Given the description of an element on the screen output the (x, y) to click on. 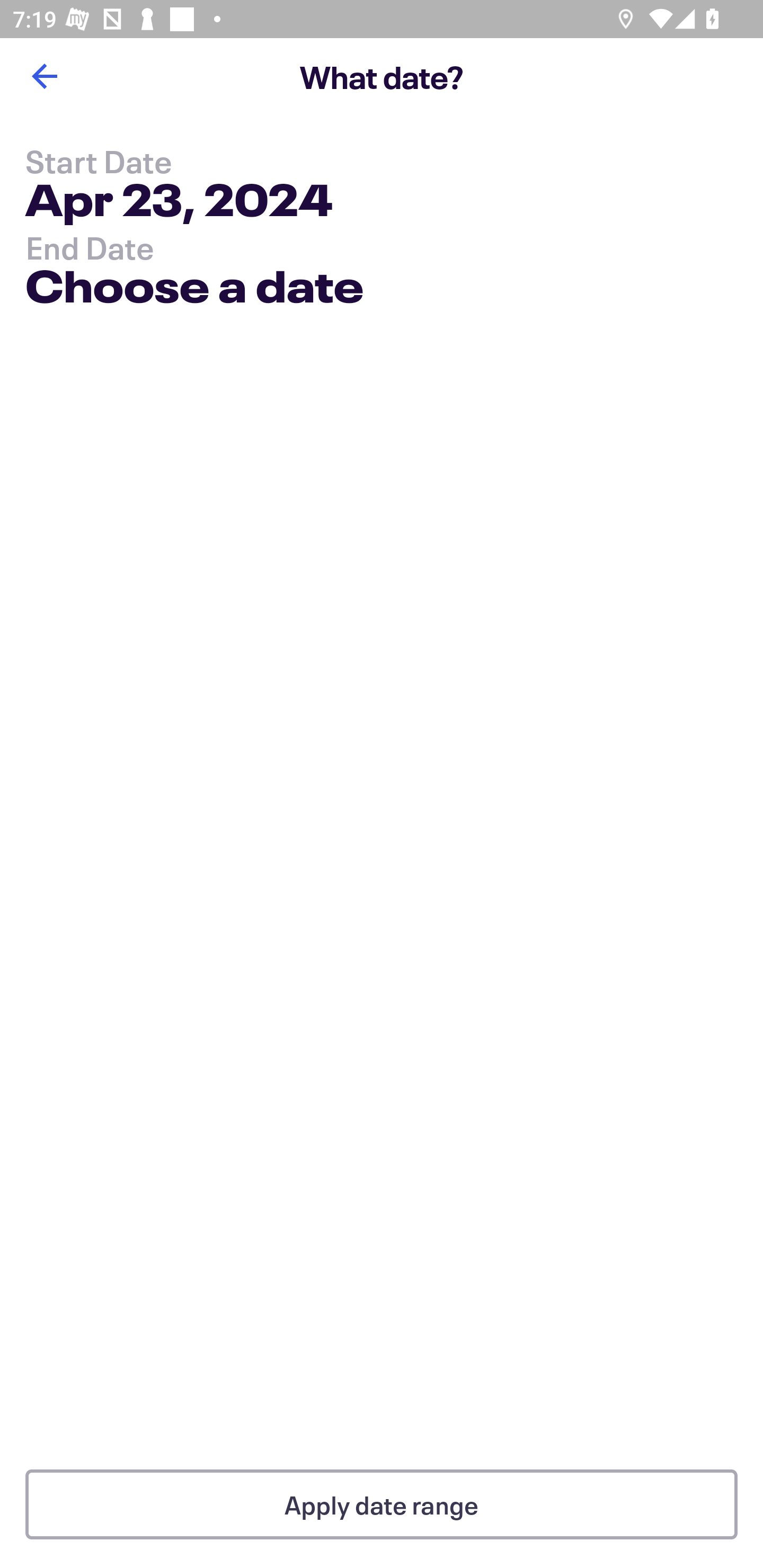
Back button (44, 75)
Apr 23, 2024 (178, 203)
Choose a date (194, 289)
Apply date range (381, 1504)
